Given the description of an element on the screen output the (x, y) to click on. 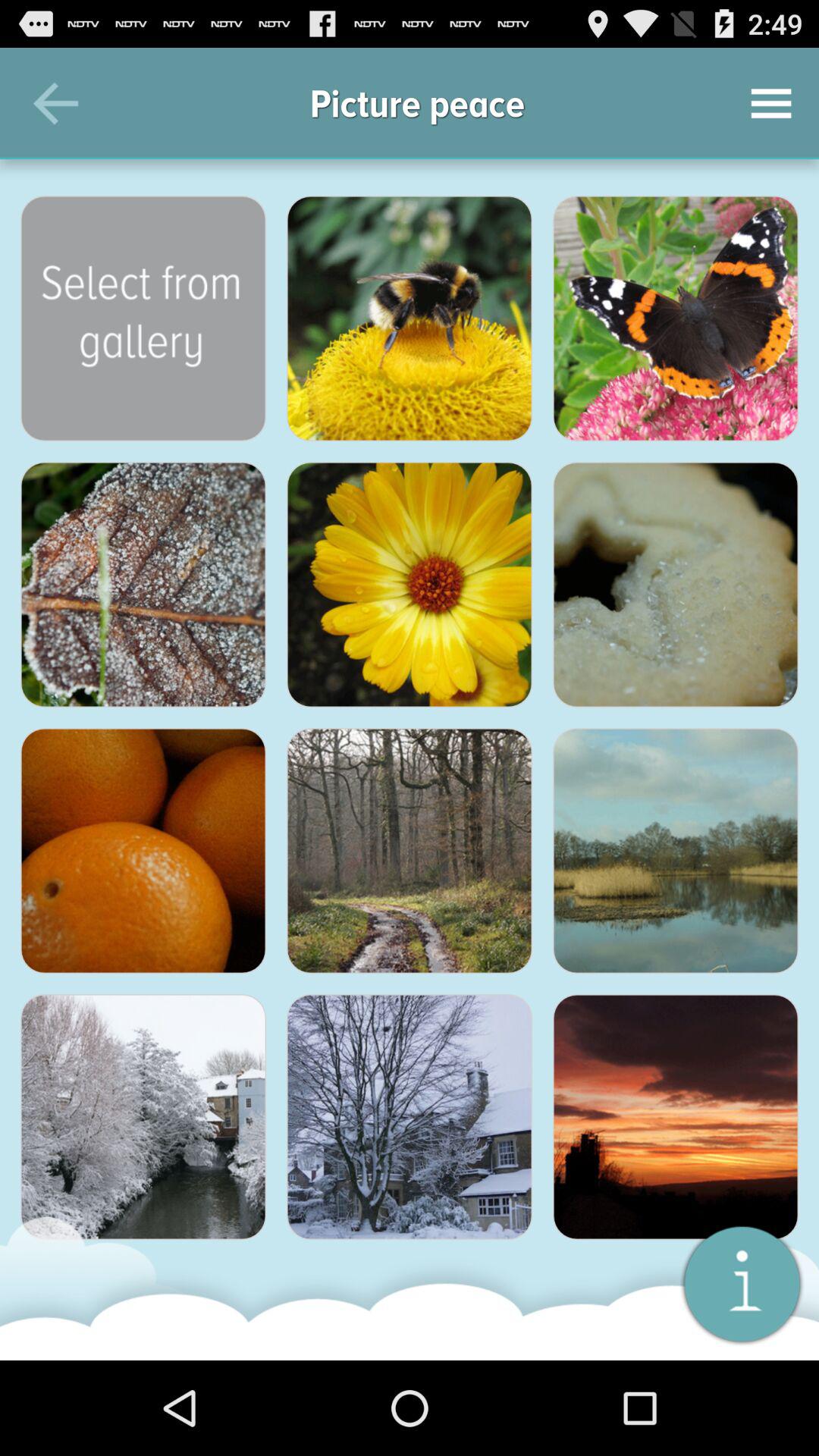
select this image (675, 850)
